Given the description of an element on the screen output the (x, y) to click on. 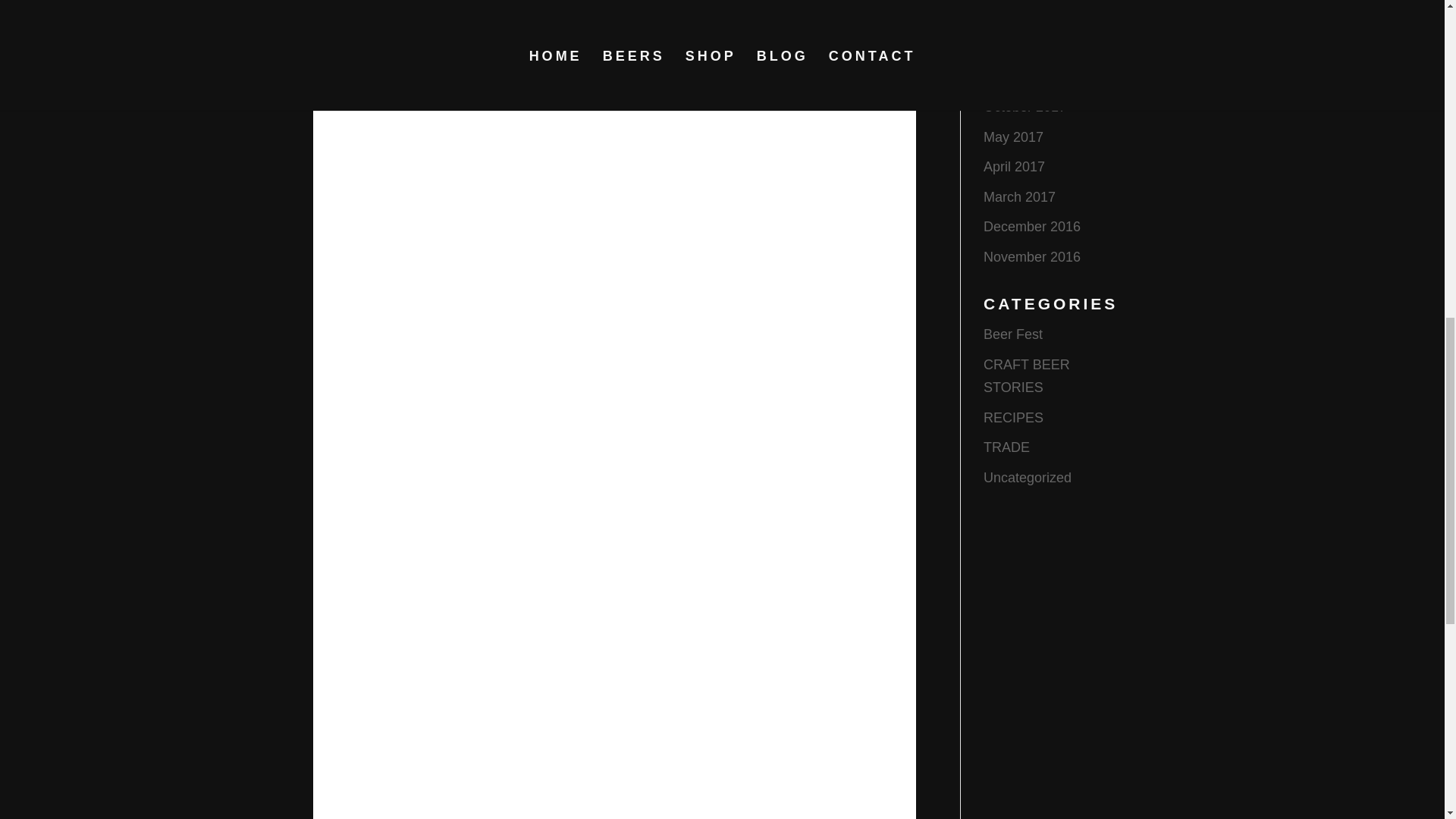
November 2016 (1032, 256)
CRAFT BEER STORIES (1027, 376)
Uncategorized (1027, 477)
May 2017 (1013, 136)
March 2017 (1019, 196)
March 2018 (1019, 46)
Beer Fest (1013, 334)
TRADE (1006, 447)
December 2016 (1032, 226)
July 2018 (1013, 16)
December 2017 (1032, 76)
October 2017 (1024, 106)
April 2017 (1014, 166)
RECIPES (1013, 417)
